Given the description of an element on the screen output the (x, y) to click on. 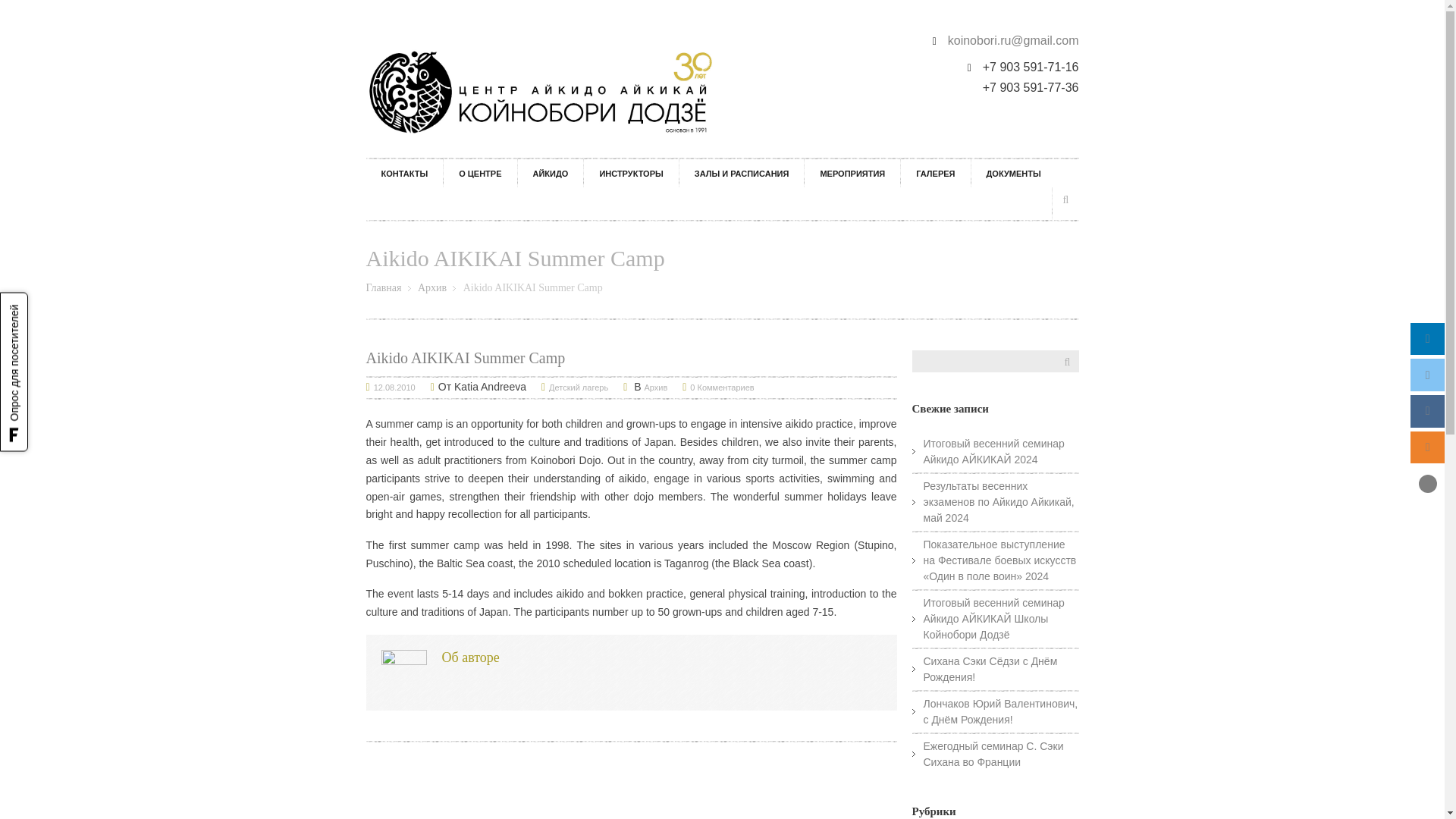
Search (1065, 199)
